Given the description of an element on the screen output the (x, y) to click on. 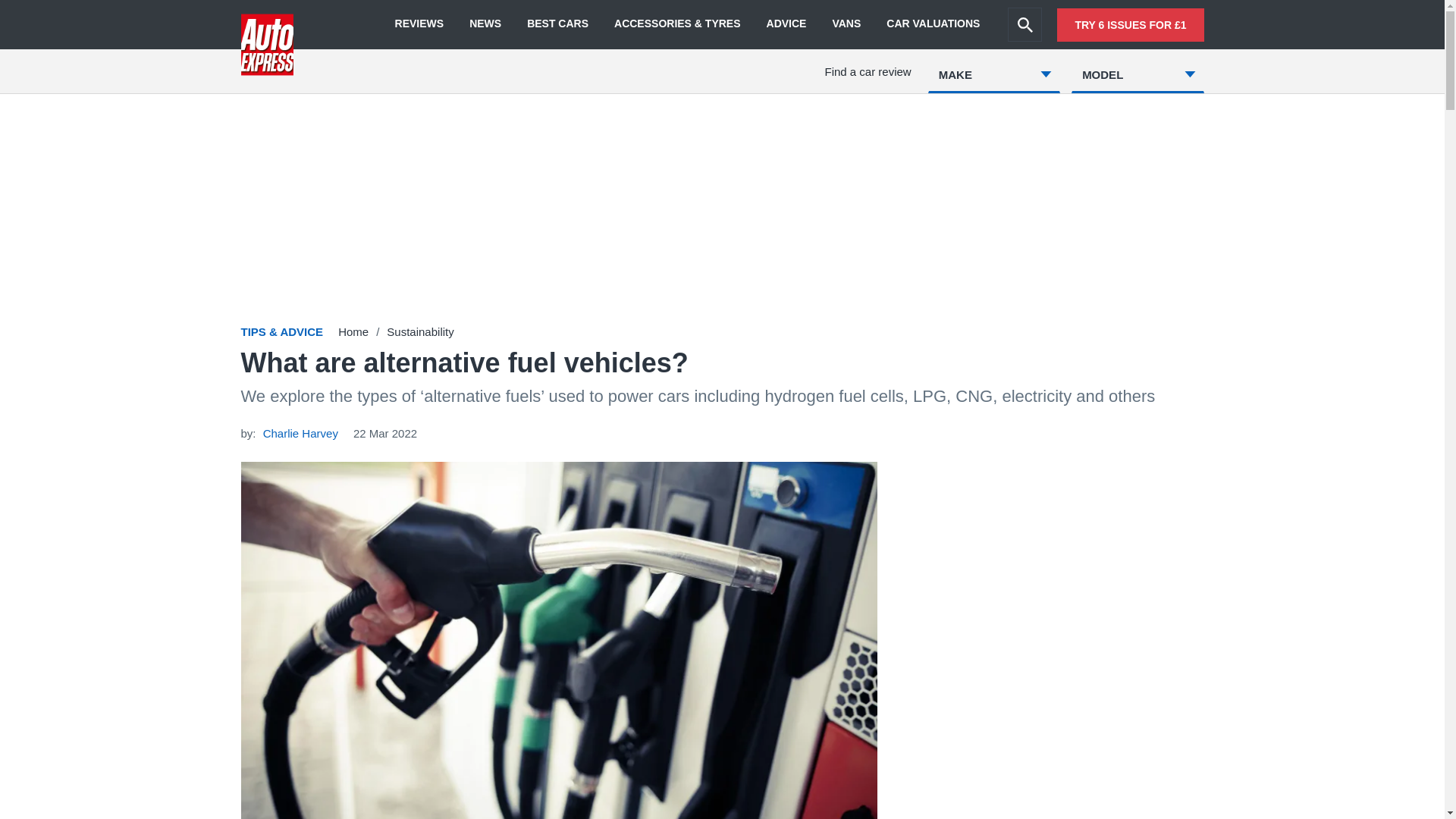
Search (1024, 24)
Search (1024, 24)
BEST CARS (557, 24)
CAR VALUATIONS (932, 24)
REVIEWS (419, 24)
VANS (845, 24)
NEWS (485, 24)
ADVICE (786, 24)
